Given the description of an element on the screen output the (x, y) to click on. 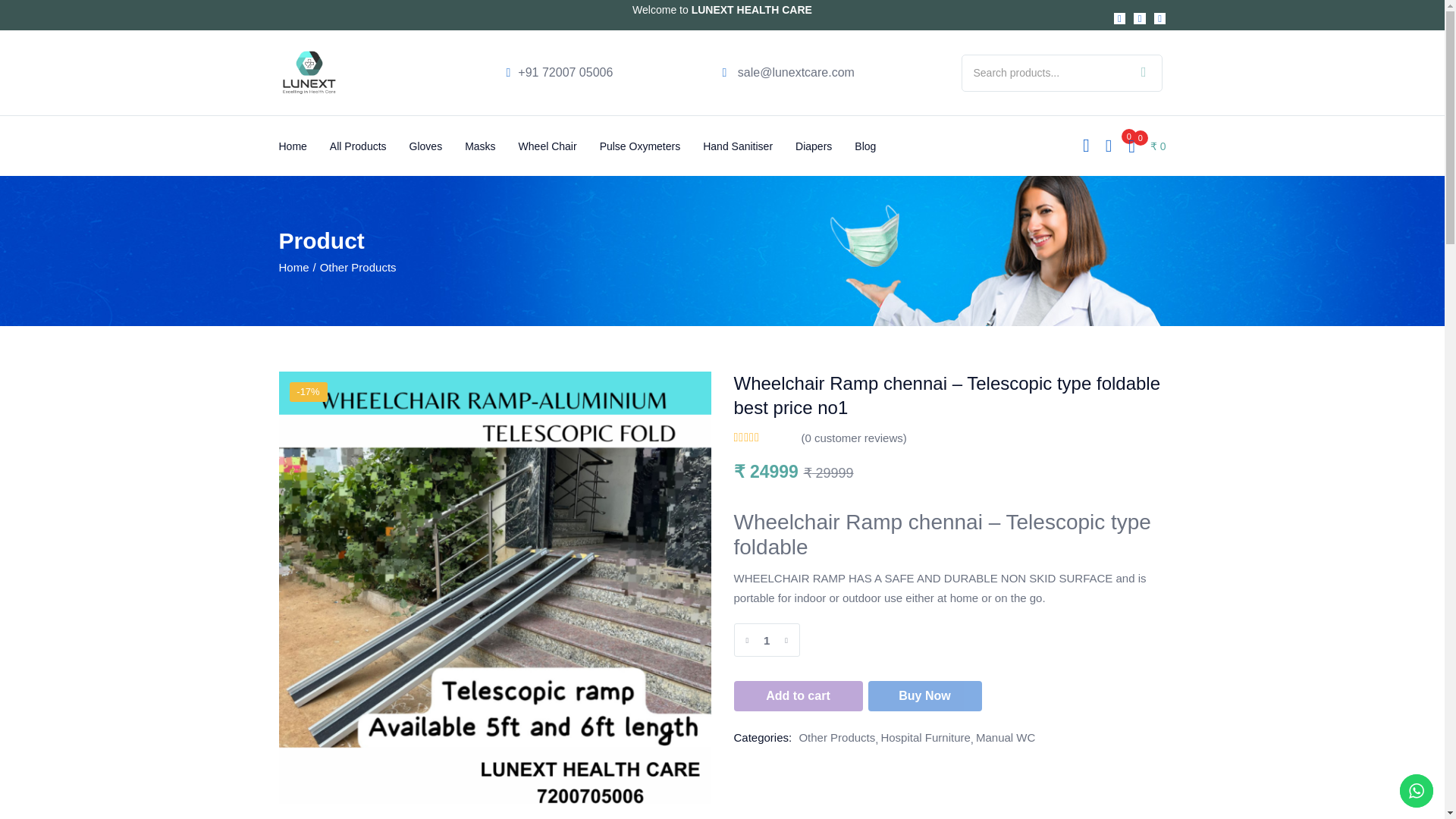
Diapers (824, 146)
Hand Sanitiser (748, 146)
Wheel Chair (558, 146)
All Products (369, 146)
Gloves (437, 146)
1 (766, 640)
Pulse Oxymeters (651, 146)
View your shopping cart (1147, 145)
